Given the description of an element on the screen output the (x, y) to click on. 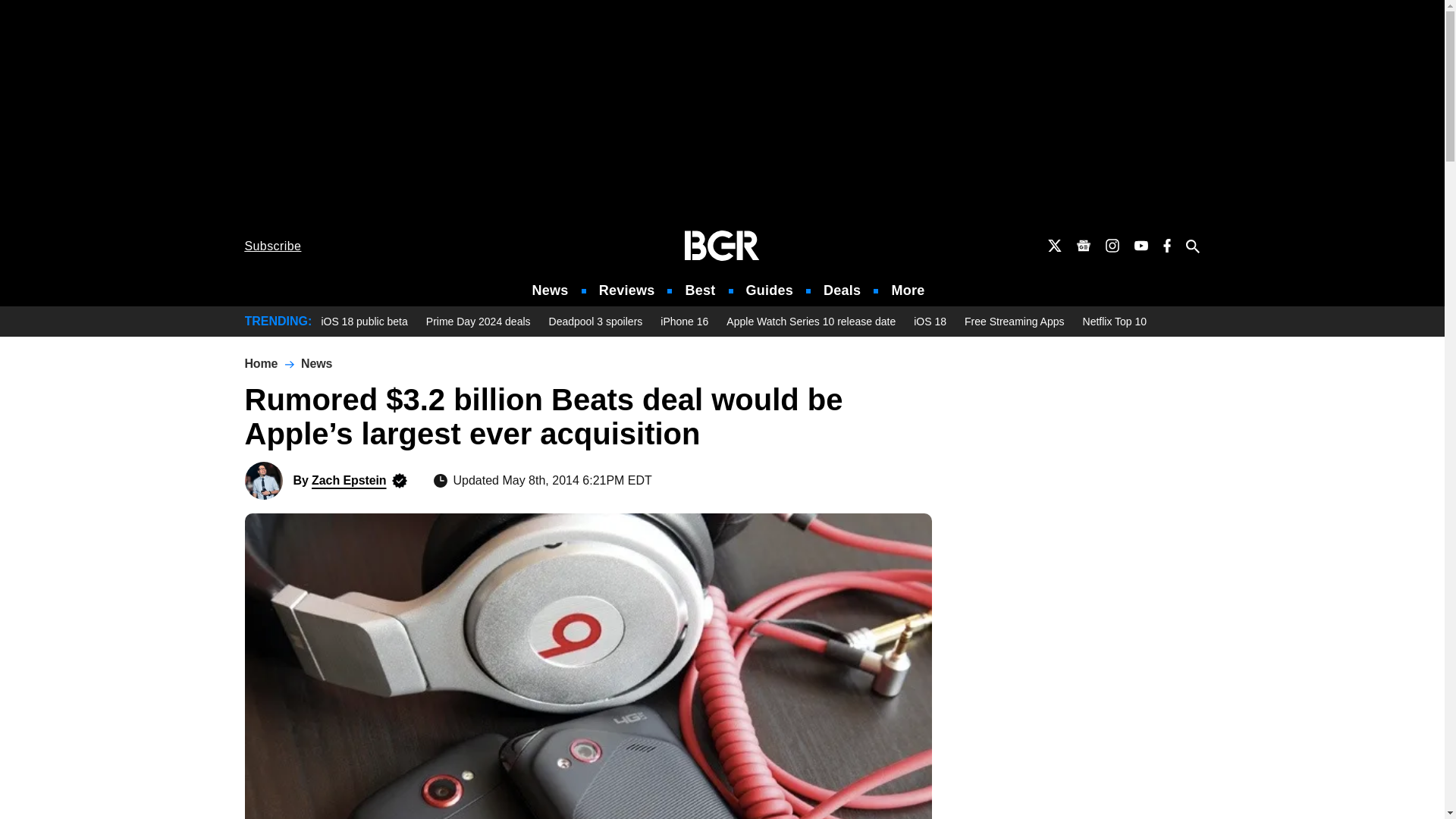
Best (699, 290)
Subscribe (272, 245)
Guides (769, 290)
Zach Epstein (263, 480)
Posts by Zach Epstein (348, 480)
Reviews (626, 290)
Deals (842, 290)
News (550, 290)
More (907, 290)
